Given the description of an element on the screen output the (x, y) to click on. 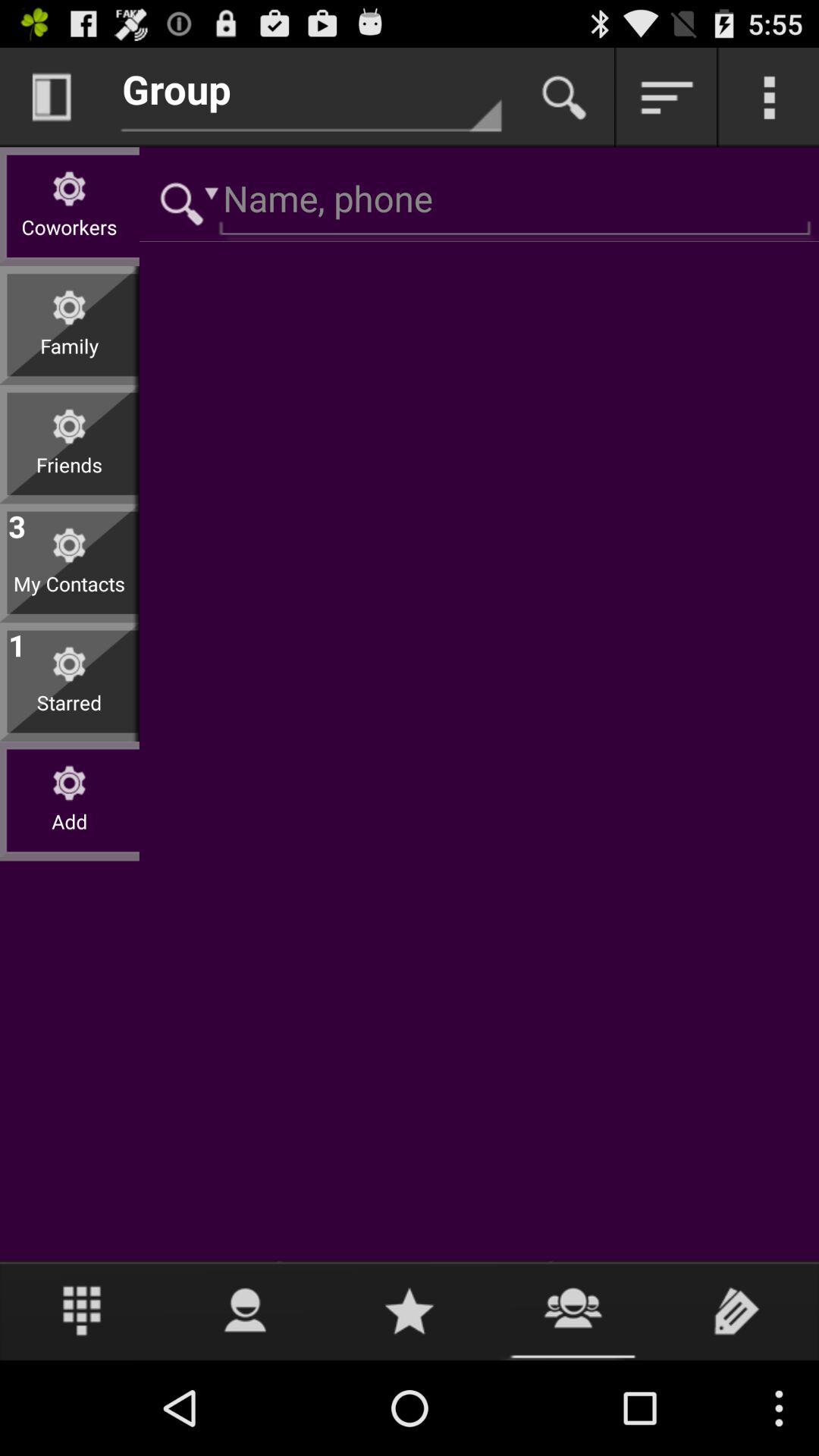
open people option (245, 1310)
